Given the description of an element on the screen output the (x, y) to click on. 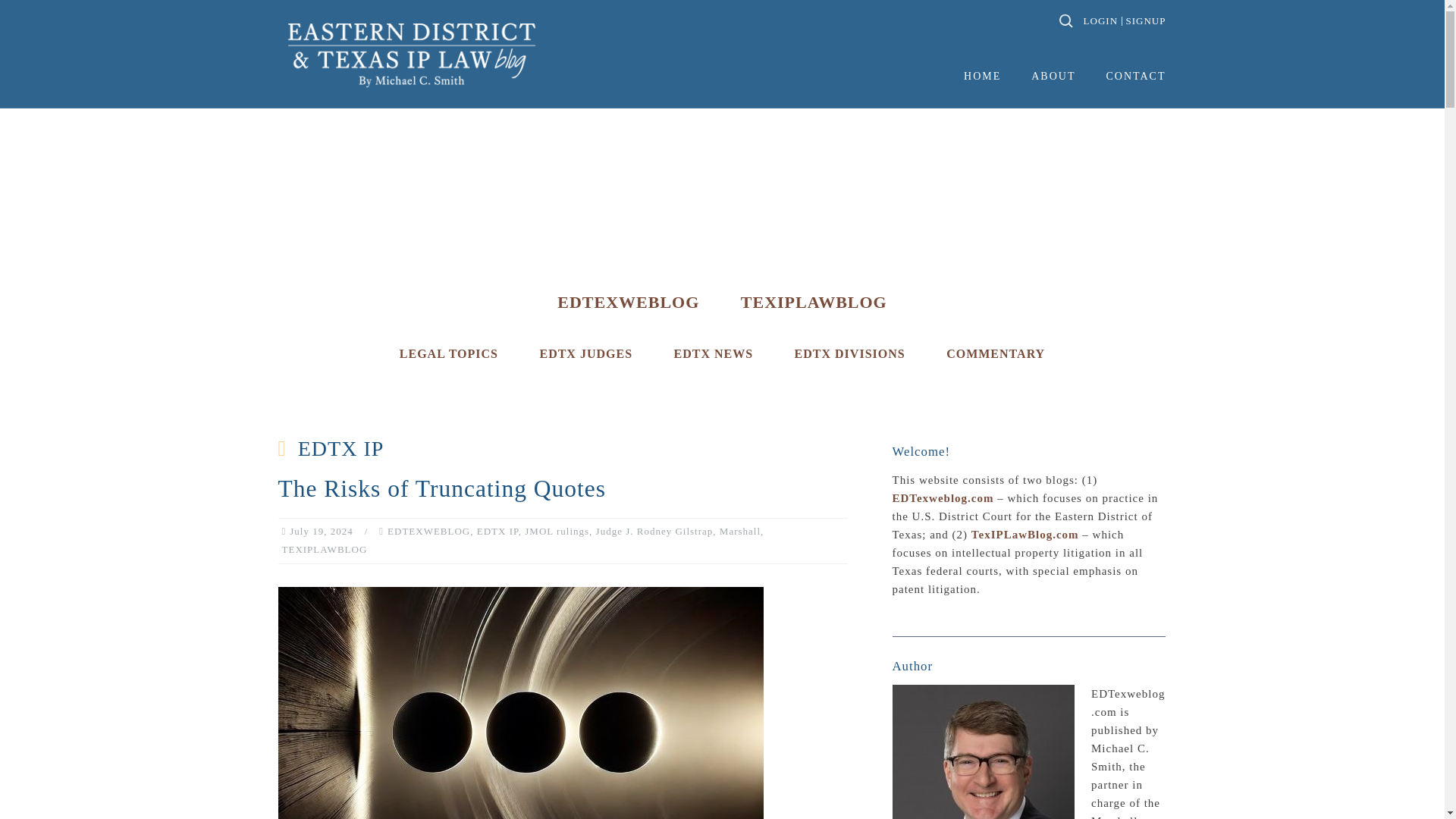
Search (53, 20)
TEXIPLAWBLOG (813, 301)
ABOUT (1052, 76)
HOME (982, 76)
LOGIN (1098, 20)
SIGNUP (1143, 20)
CONTACT (1135, 76)
LEGAL TOPICS (448, 353)
Search for: (1064, 20)
EDTEXWEBLOG (627, 301)
